Given the description of an element on the screen output the (x, y) to click on. 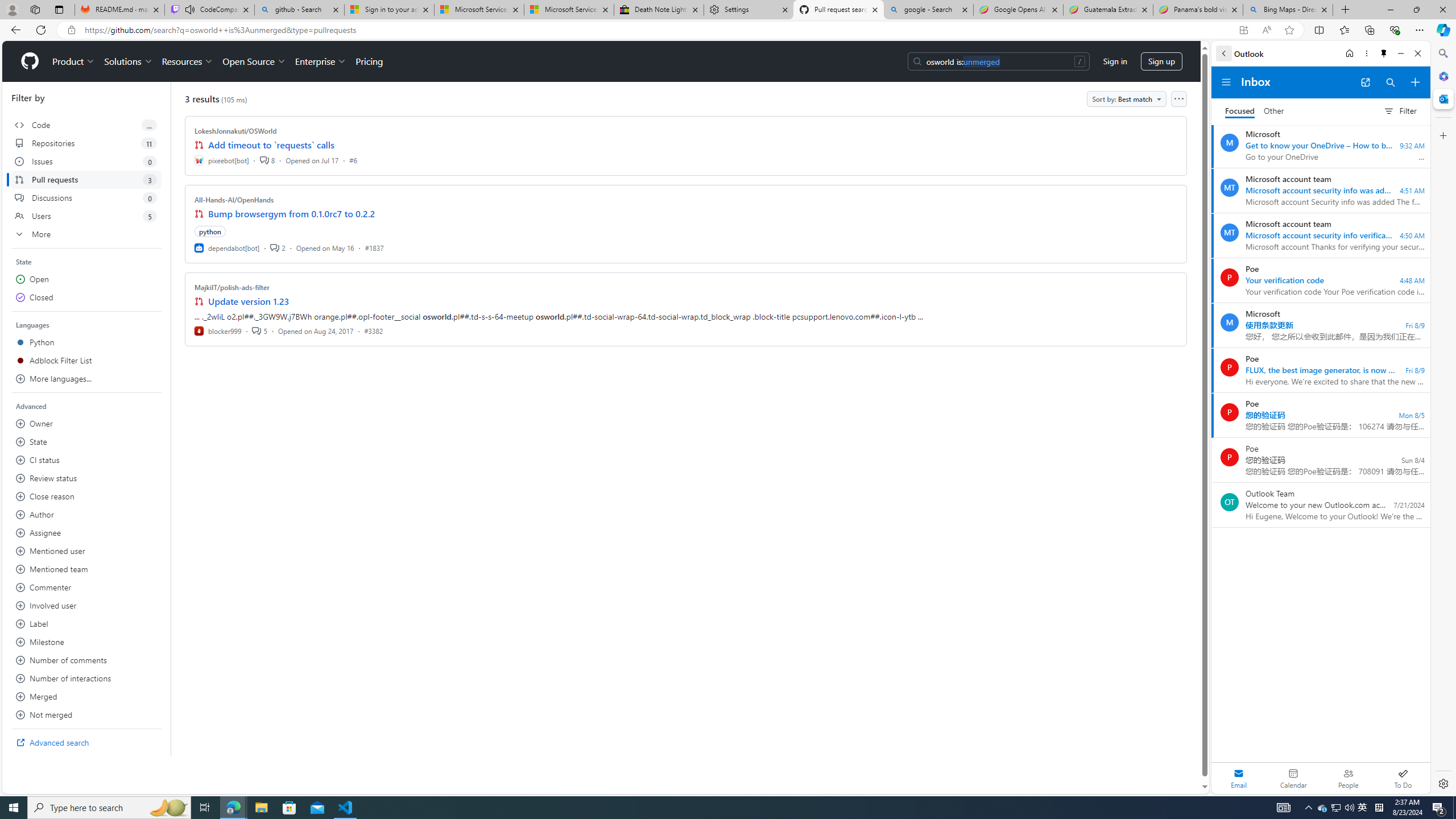
Open column options (1178, 98)
Product (74, 60)
More languages... (86, 378)
